Given the description of an element on the screen output the (x, y) to click on. 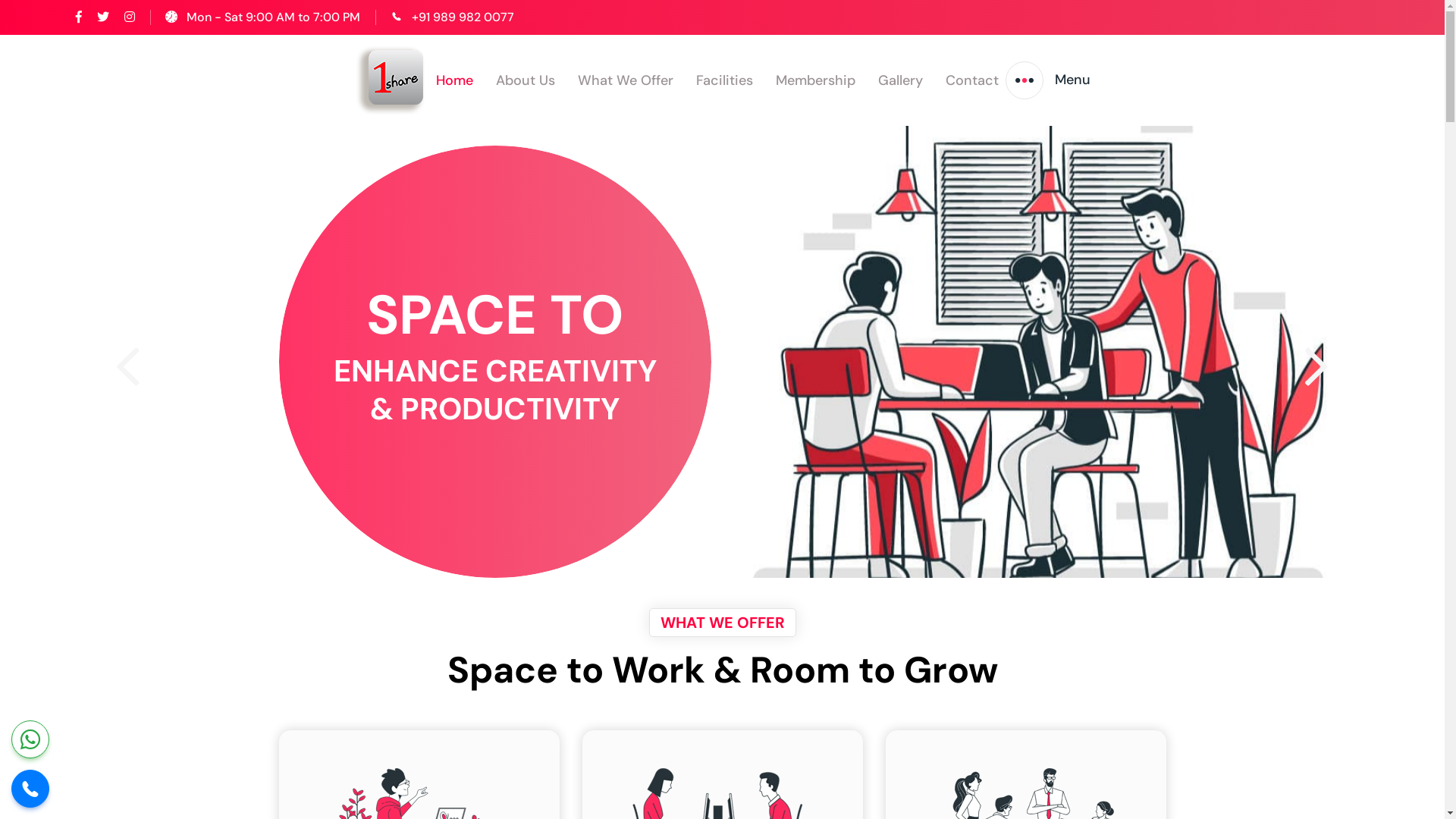
Gallery Element type: text (900, 80)
+91 989 982 0077 Element type: text (462, 17)
Home Element type: text (454, 80)
What We Offer Element type: text (625, 80)
Contact Element type: text (971, 80)
About Us Element type: text (525, 80)
Facilities Element type: text (724, 80)
Membership Element type: text (815, 80)
